Given the description of an element on the screen output the (x, y) to click on. 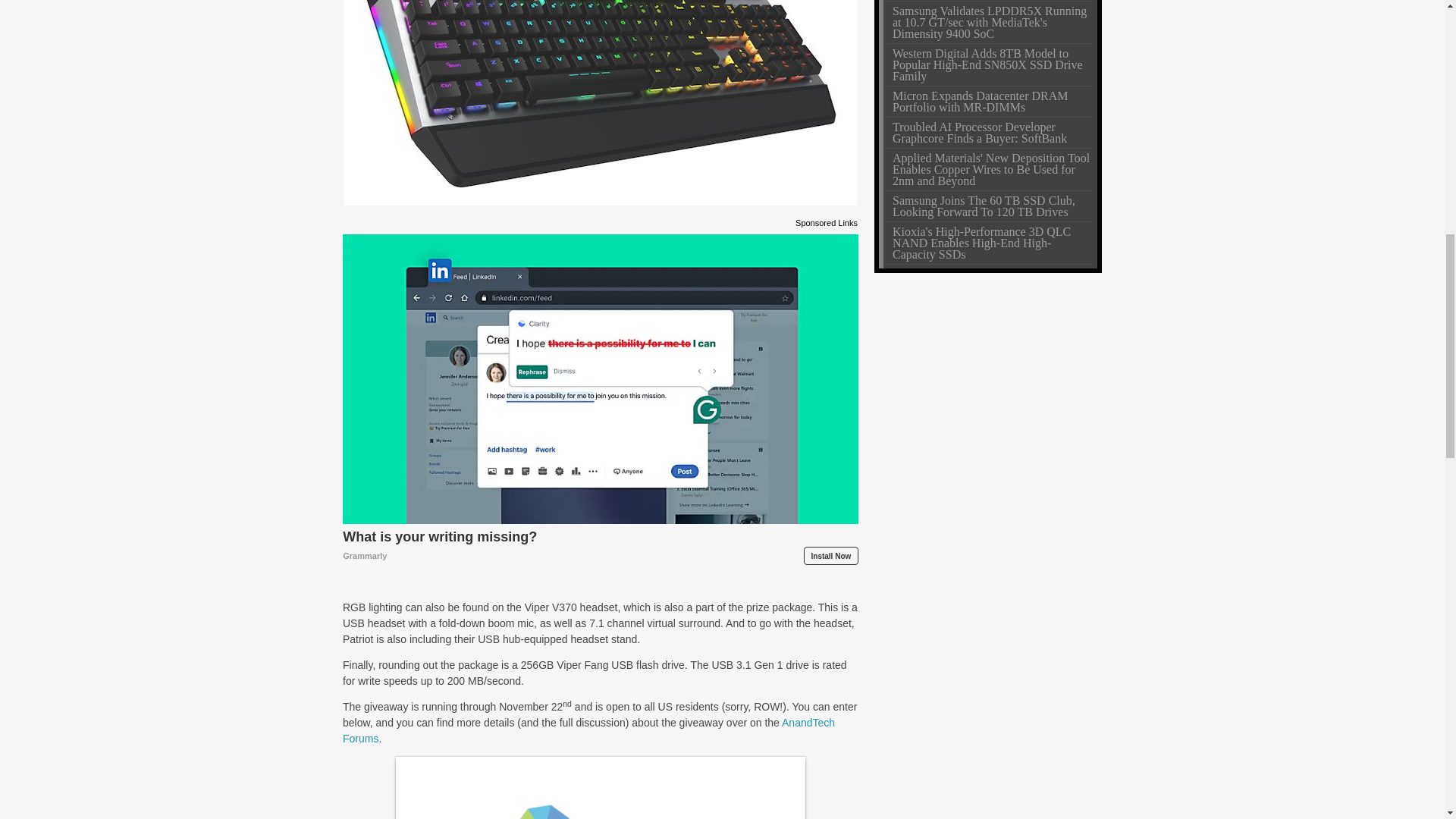
What is your writing missing? (600, 546)
